Given the description of an element on the screen output the (x, y) to click on. 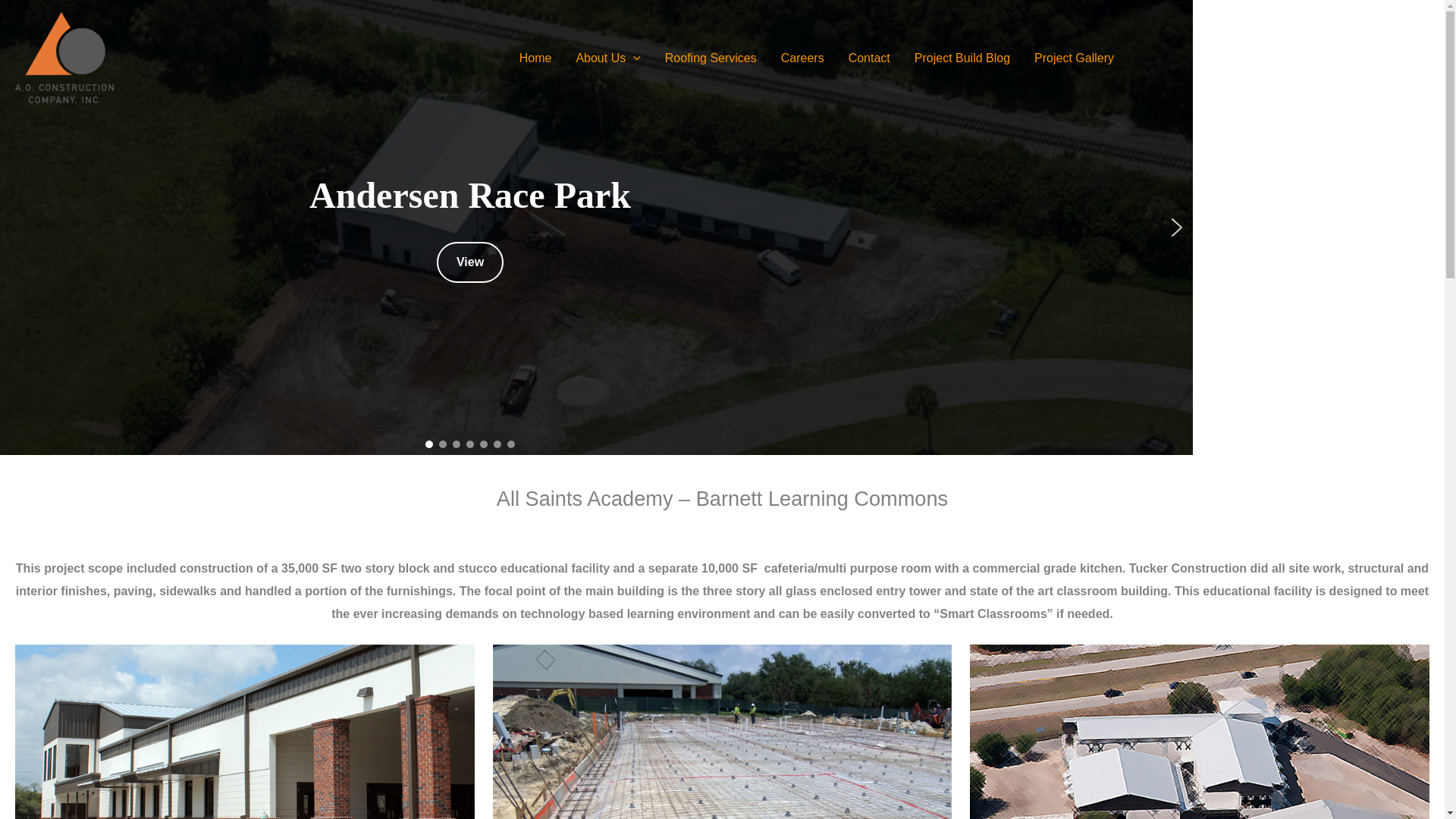
Project Build Blog (962, 58)
About Us (607, 58)
Home (535, 58)
View (469, 261)
Careers (801, 58)
Project Gallery (1073, 58)
Contact (868, 58)
Roofing Services (710, 58)
